Given the description of an element on the screen output the (x, y) to click on. 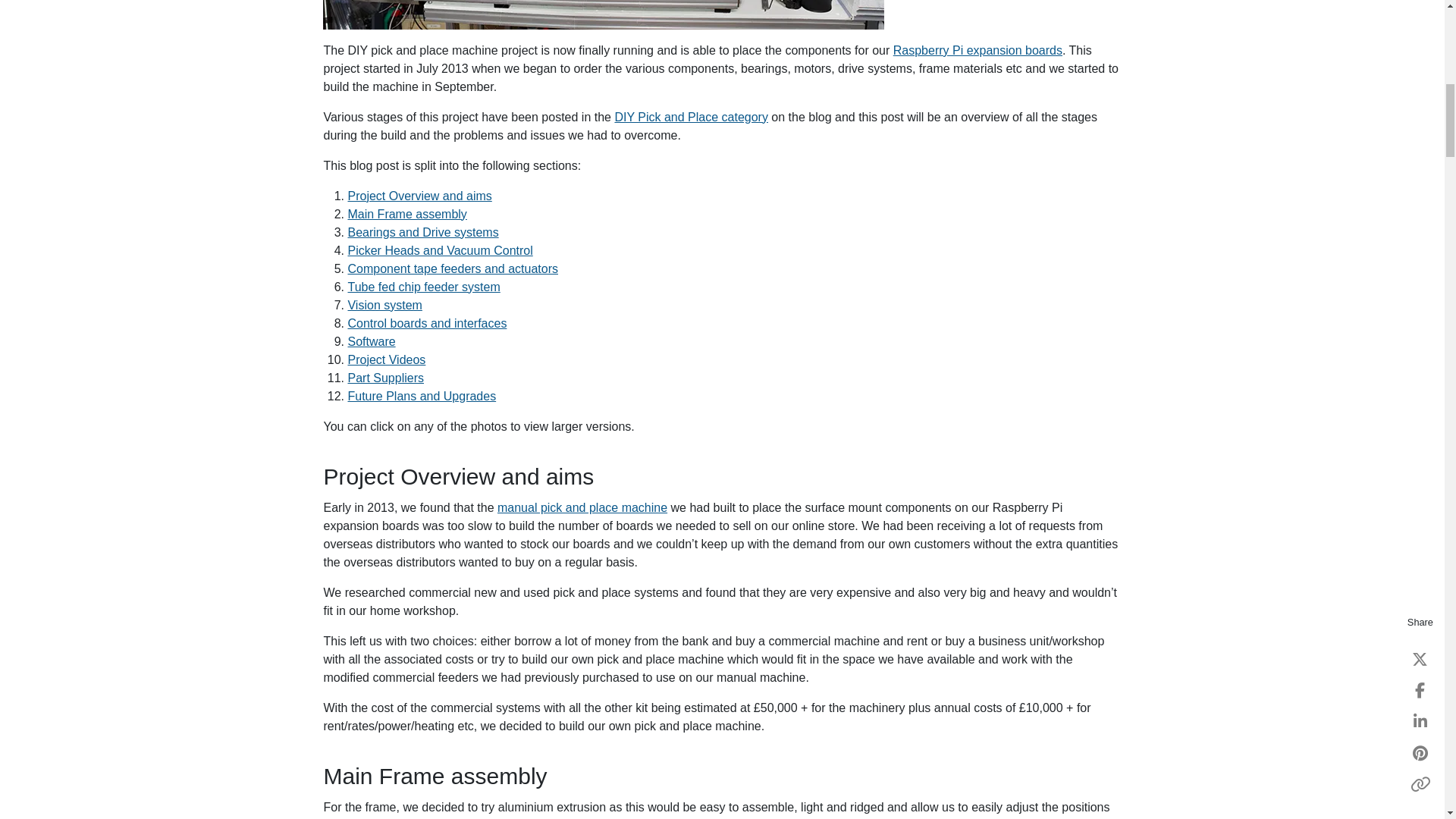
Bearings and Drive systems (422, 232)
Project Videos (386, 359)
Raspberry Pi expansion boards (977, 50)
Software (370, 341)
Tube fed chip feeder system (423, 286)
Component tape feeders and actuators (452, 268)
Vision system (384, 305)
Control boards and interfaces (426, 323)
Future Plans and Upgrades (421, 395)
Part Suppliers (385, 377)
Picker Heads and Vacuum Control (439, 250)
manual pick and place machine (581, 507)
Raspberry Pi expansion boards (977, 50)
Project Overview and aims (419, 195)
Main Frame assembly (406, 214)
